Given the description of an element on the screen output the (x, y) to click on. 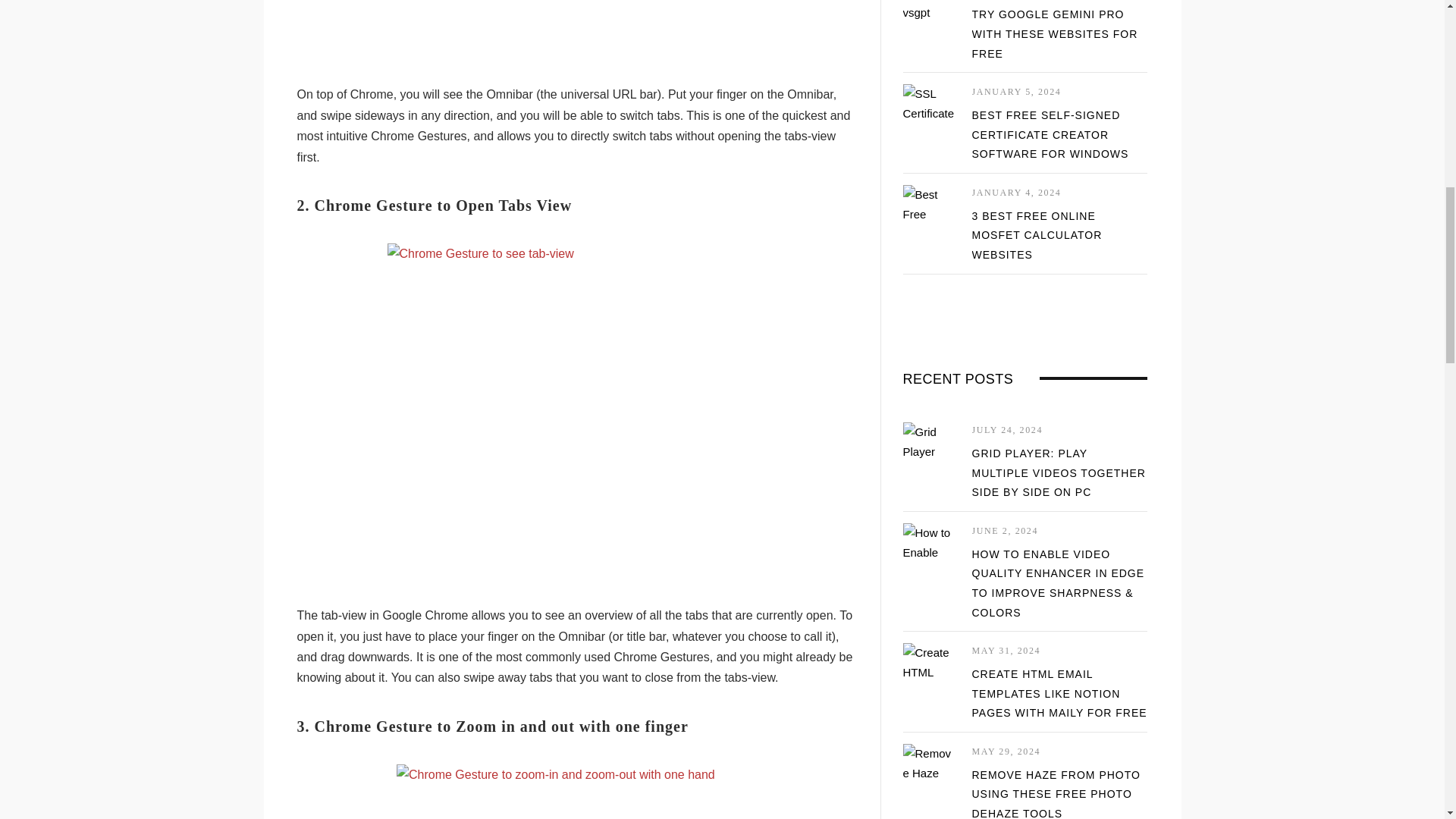
Chrome Gesture to zoom-in and zoom-out with one hand (576, 791)
Chrome Gesture to see tab-view (576, 410)
Switch Tabs in Chrome (576, 8)
